Given the description of an element on the screen output the (x, y) to click on. 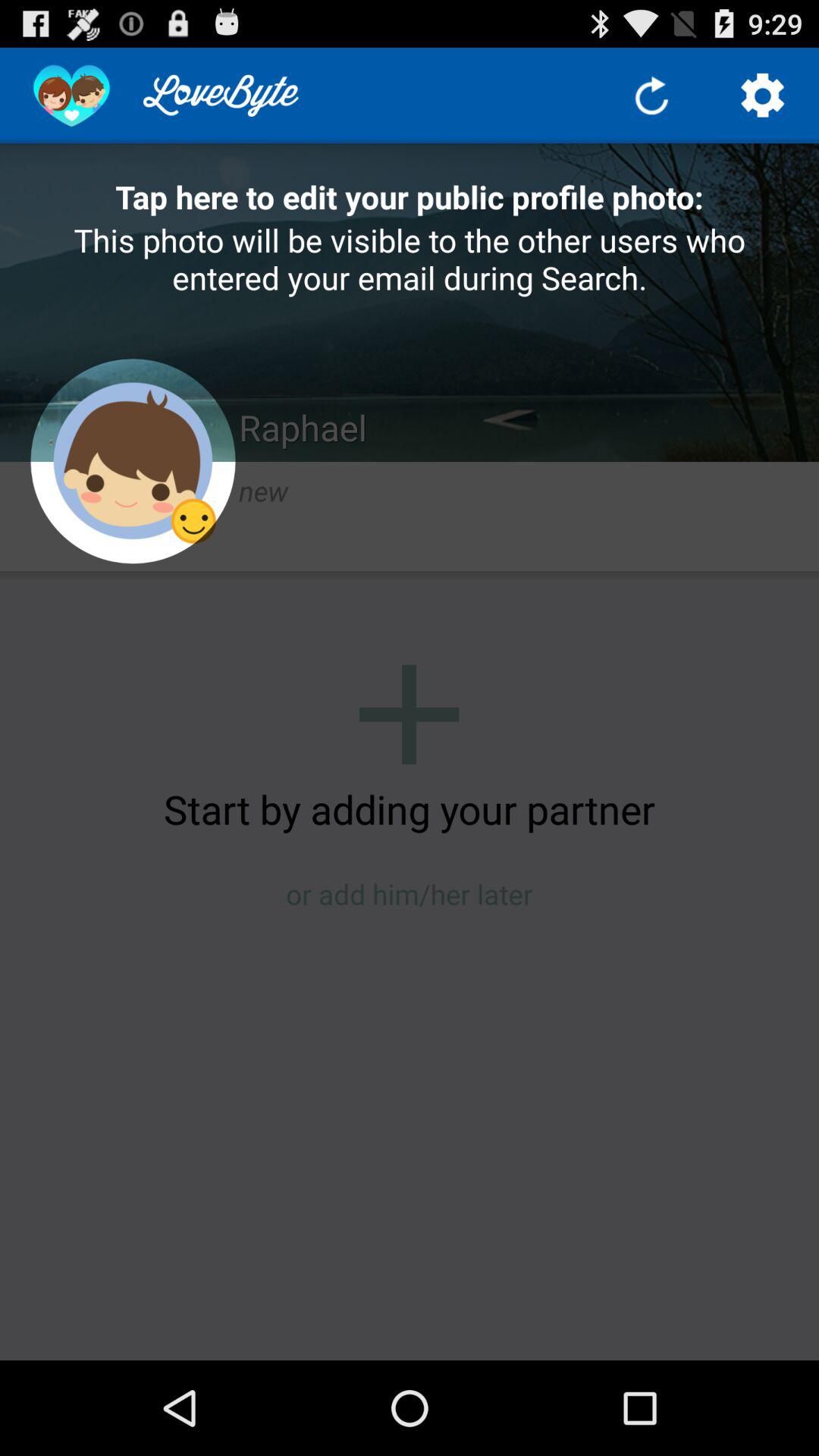
click on the add symbol at the center of the page (408, 714)
label to the left of lovebyte at the top left corner of the page (71, 95)
select the text which is left side of the refresh button (220, 95)
